Given the description of an element on the screen output the (x, y) to click on. 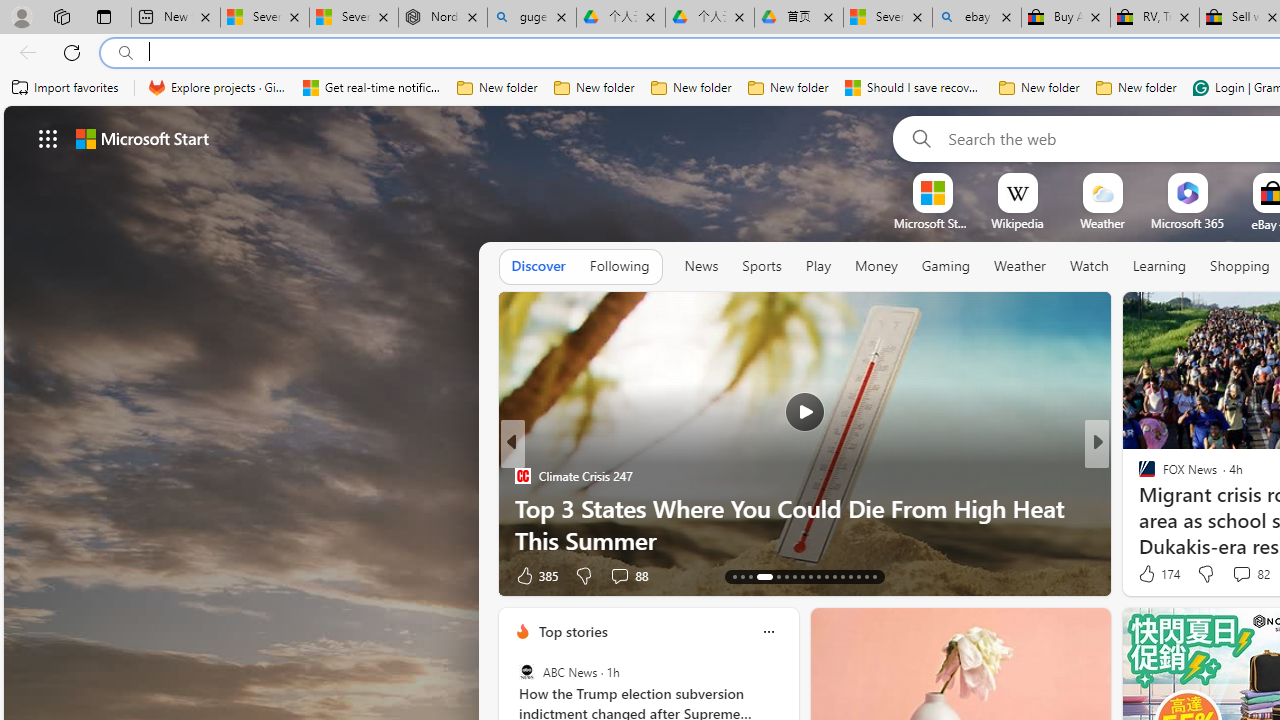
CNBC (1138, 475)
Komando (1138, 507)
GQ (1138, 507)
View comments 4 Comment (1234, 575)
Play (817, 265)
AutomationID: tab-19 (793, 576)
AutomationID: tab-13 (733, 576)
Shopping (1240, 265)
AutomationID: waffle (47, 138)
Play (818, 267)
385 Like (535, 574)
142 Like (1151, 574)
View comments 7 Comment (1241, 574)
Learning (1159, 265)
